Given the description of an element on the screen output the (x, y) to click on. 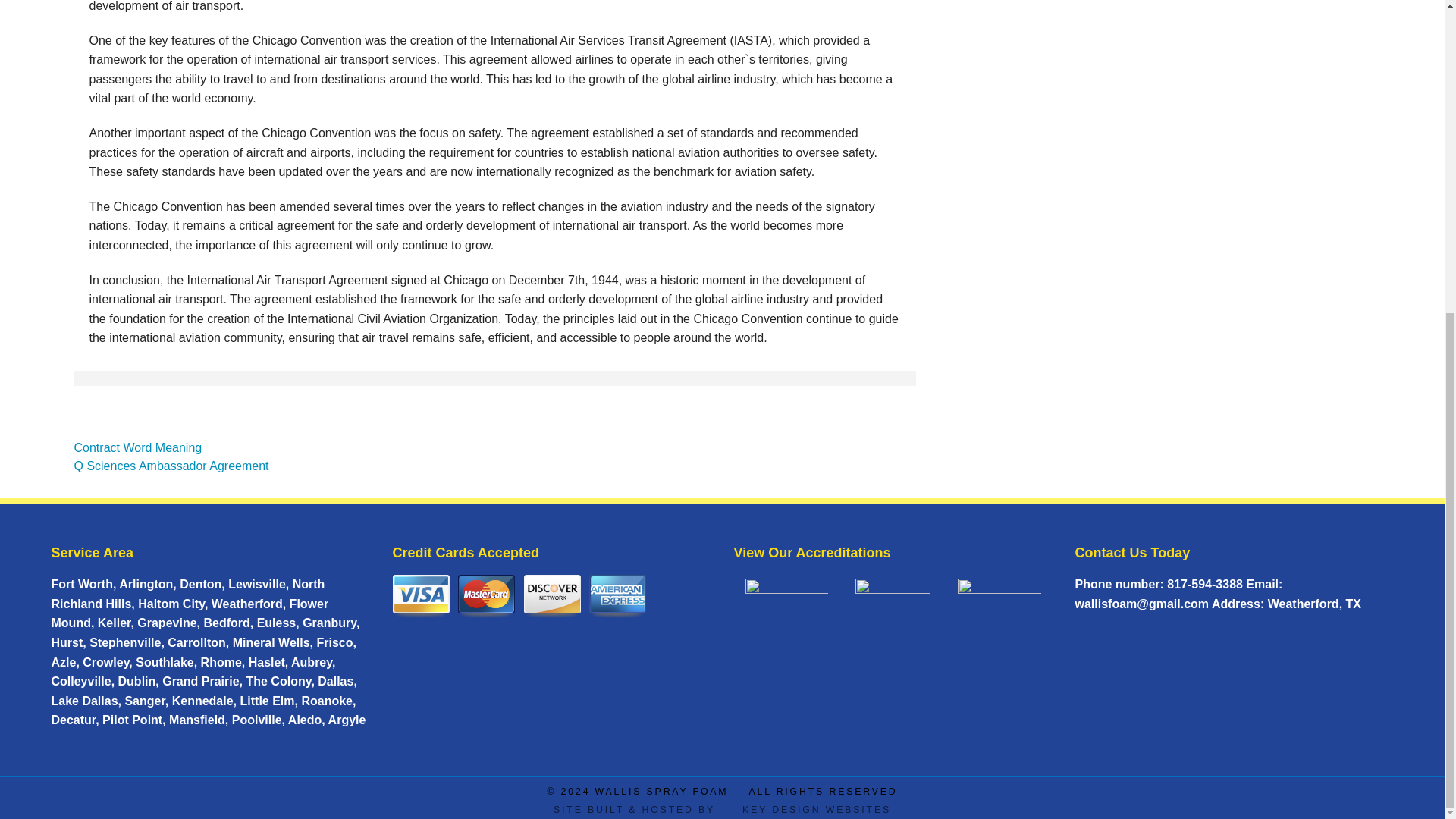
Contract Word Meaning (138, 447)
Site by Key Design Websites (722, 809)
Q Sciences Ambassador Agreement (171, 465)
WALLIS SPRAY FOAM (662, 791)
